Given the description of an element on the screen output the (x, y) to click on. 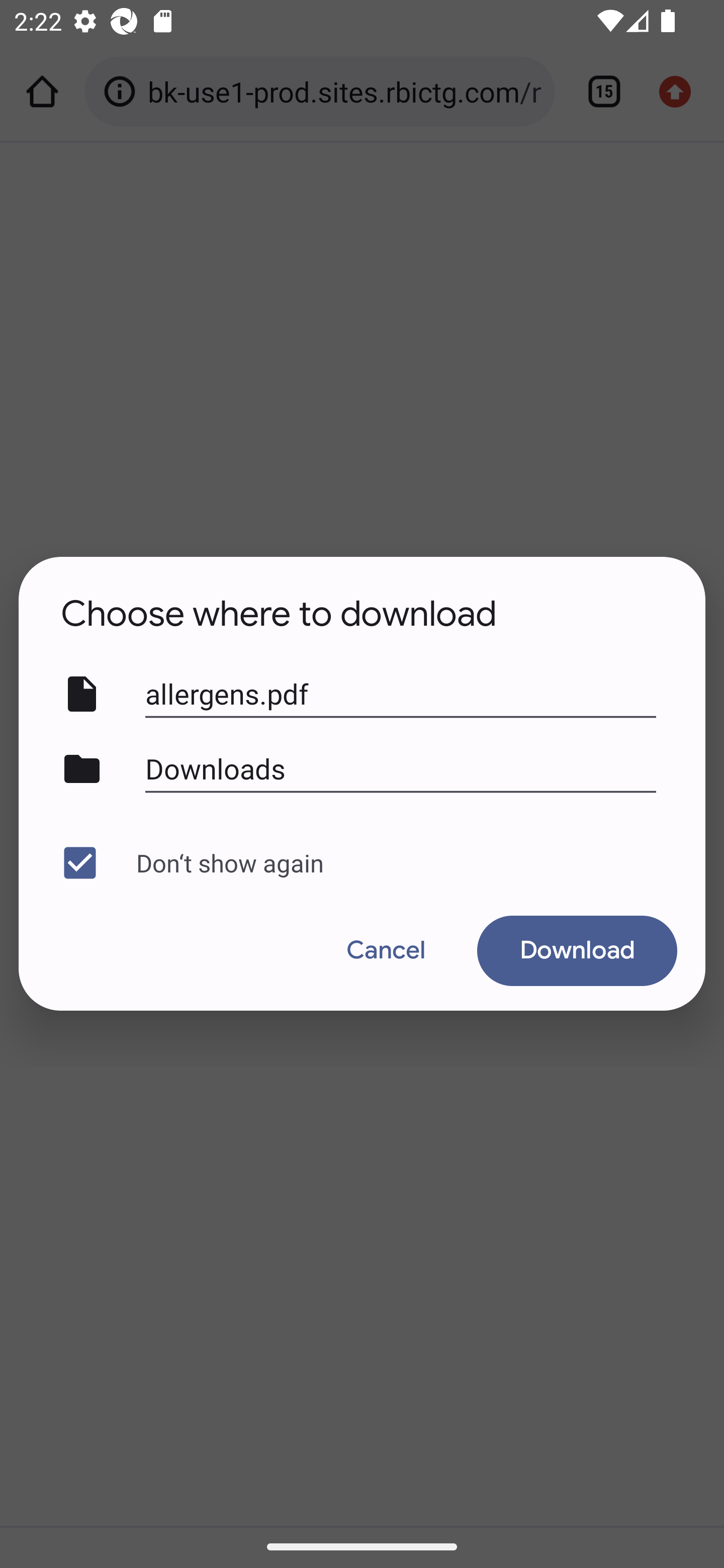
allergens.pdf (400, 694)
Downloads (400, 768)
Don‘t show again (357, 862)
Cancel (385, 949)
Download (576, 949)
